Given the description of an element on the screen output the (x, y) to click on. 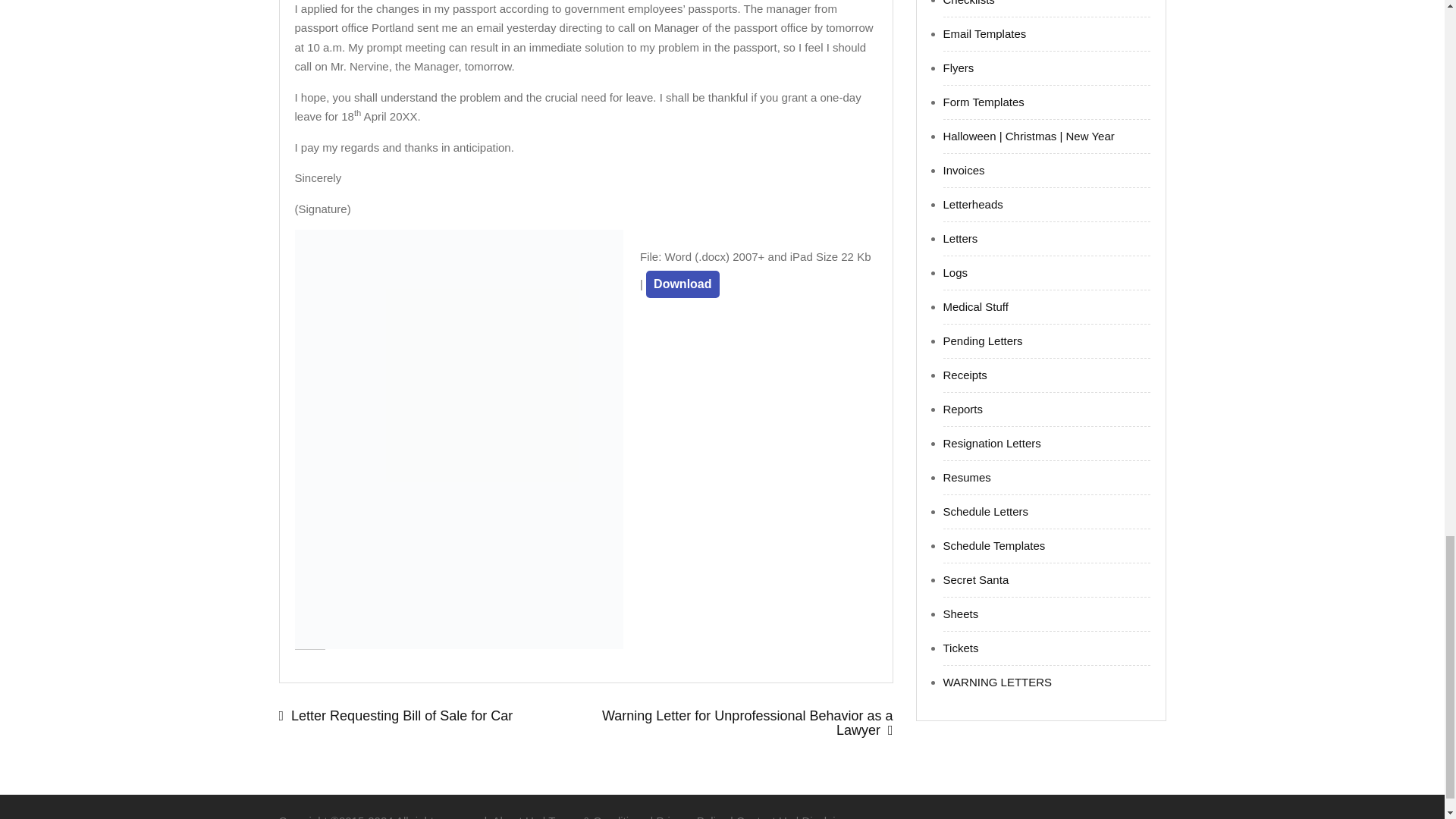
Letter Requesting Bill of Sale for Car (432, 715)
Download (682, 284)
Warning Letter for Unprofessional Behavior as a Lawyer (738, 723)
